Given the description of an element on the screen output the (x, y) to click on. 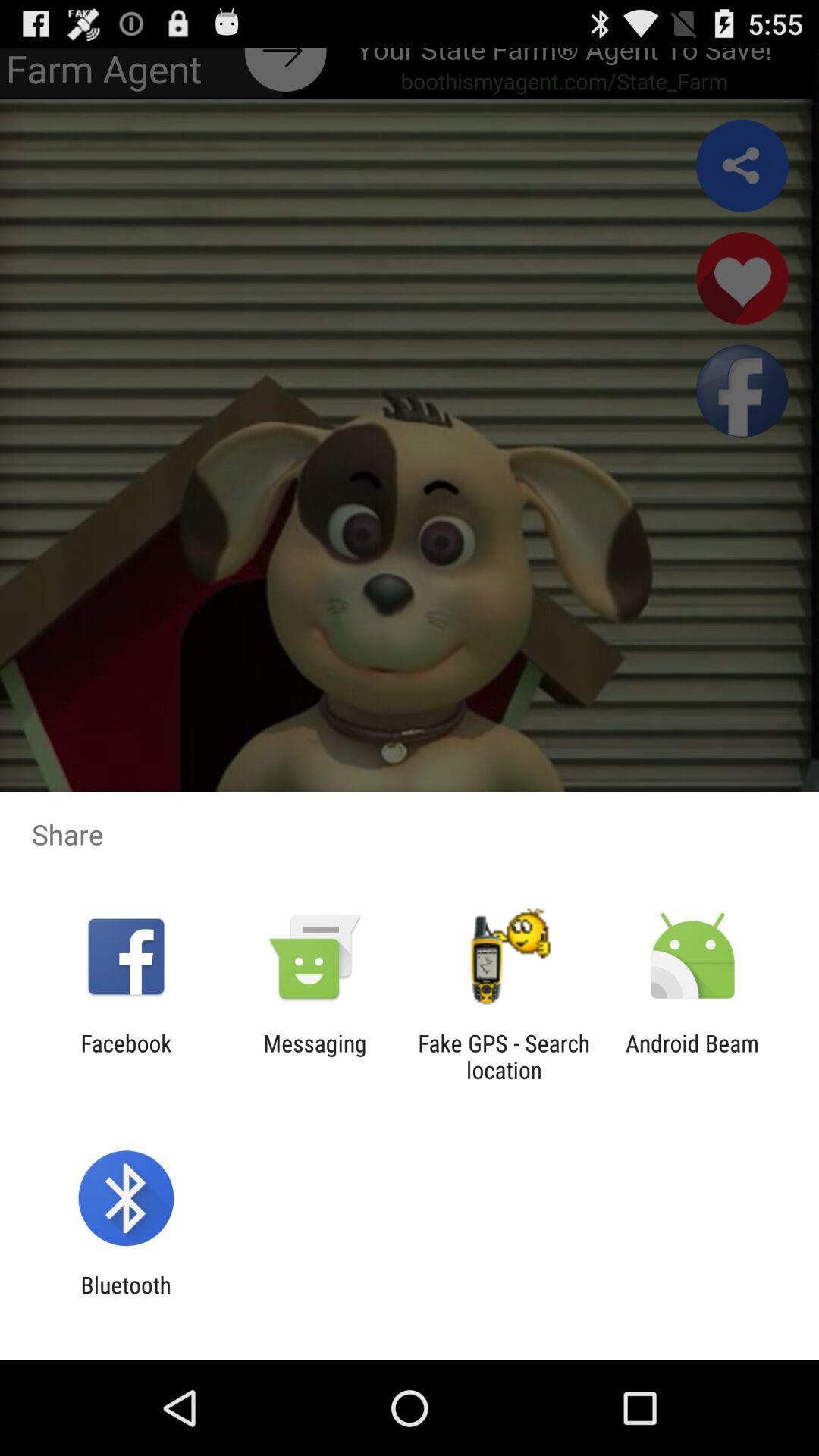
select icon next to messaging (125, 1056)
